Given the description of an element on the screen output the (x, y) to click on. 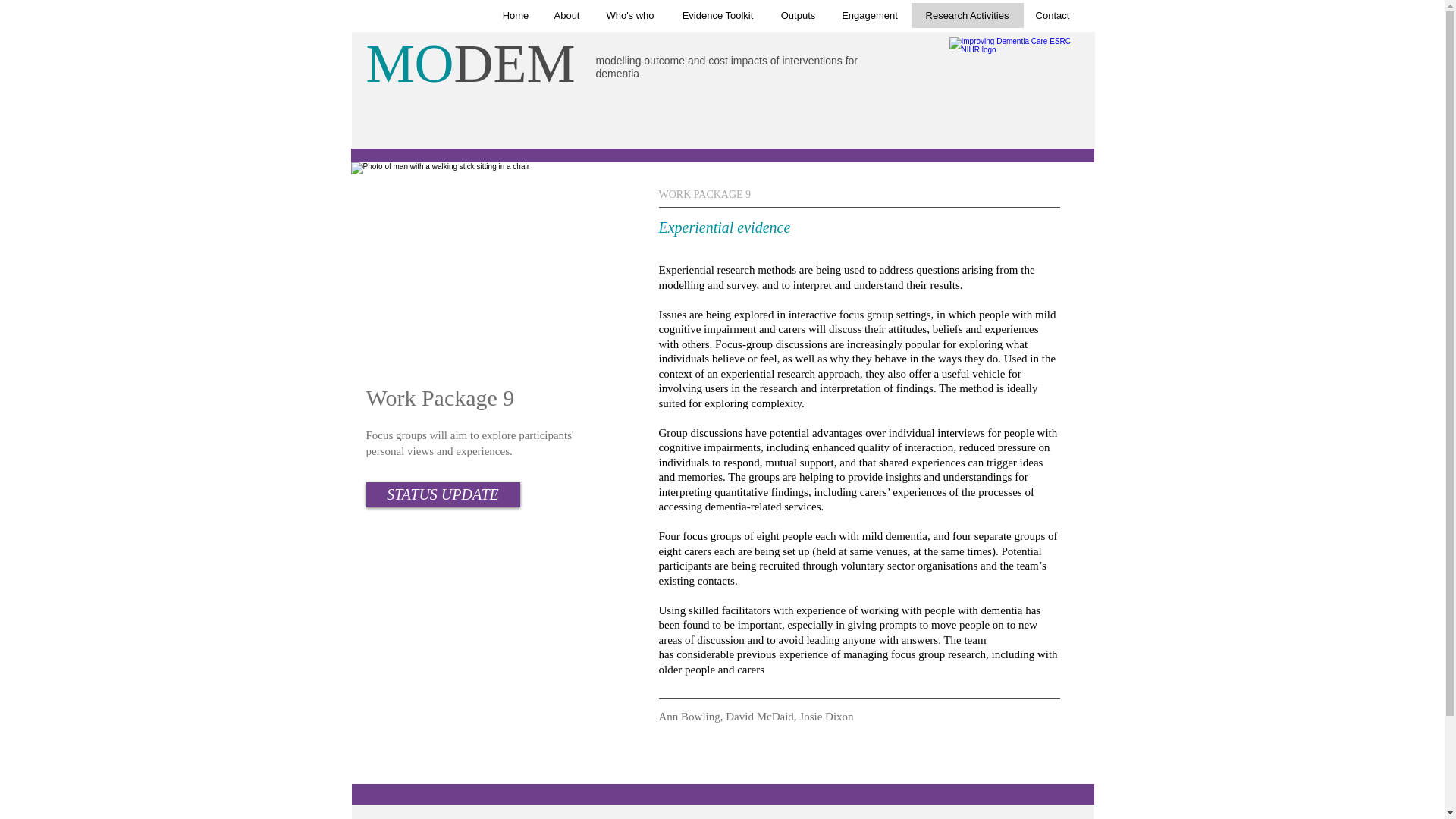
Who's who (630, 15)
Evidence Toolkit (716, 15)
STATUS UPDATE (442, 494)
Contact (1052, 15)
About (566, 15)
Man with a walking stick  (476, 264)
Improving Dementia Care ESRC NIHR logo (1013, 71)
Home (514, 15)
Research Activities (967, 15)
